Given the description of an element on the screen output the (x, y) to click on. 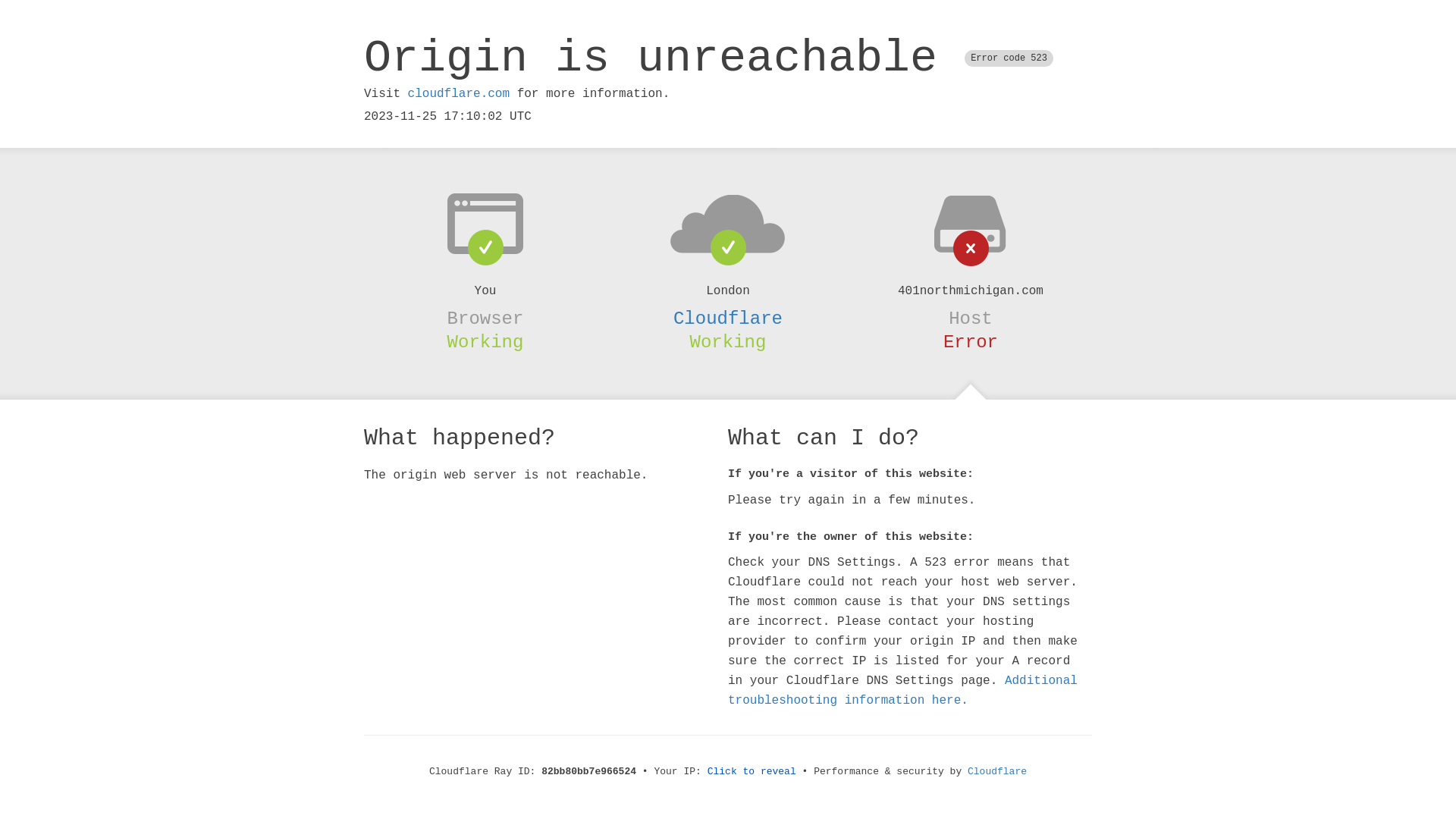
cloudflare.com Element type: text (458, 93)
Cloudflare Element type: text (996, 771)
Additional troubleshooting information here. Element type: text (902, 690)
Cloudflare Element type: text (727, 318)
Click to reveal Element type: text (751, 771)
